Given the description of an element on the screen output the (x, y) to click on. 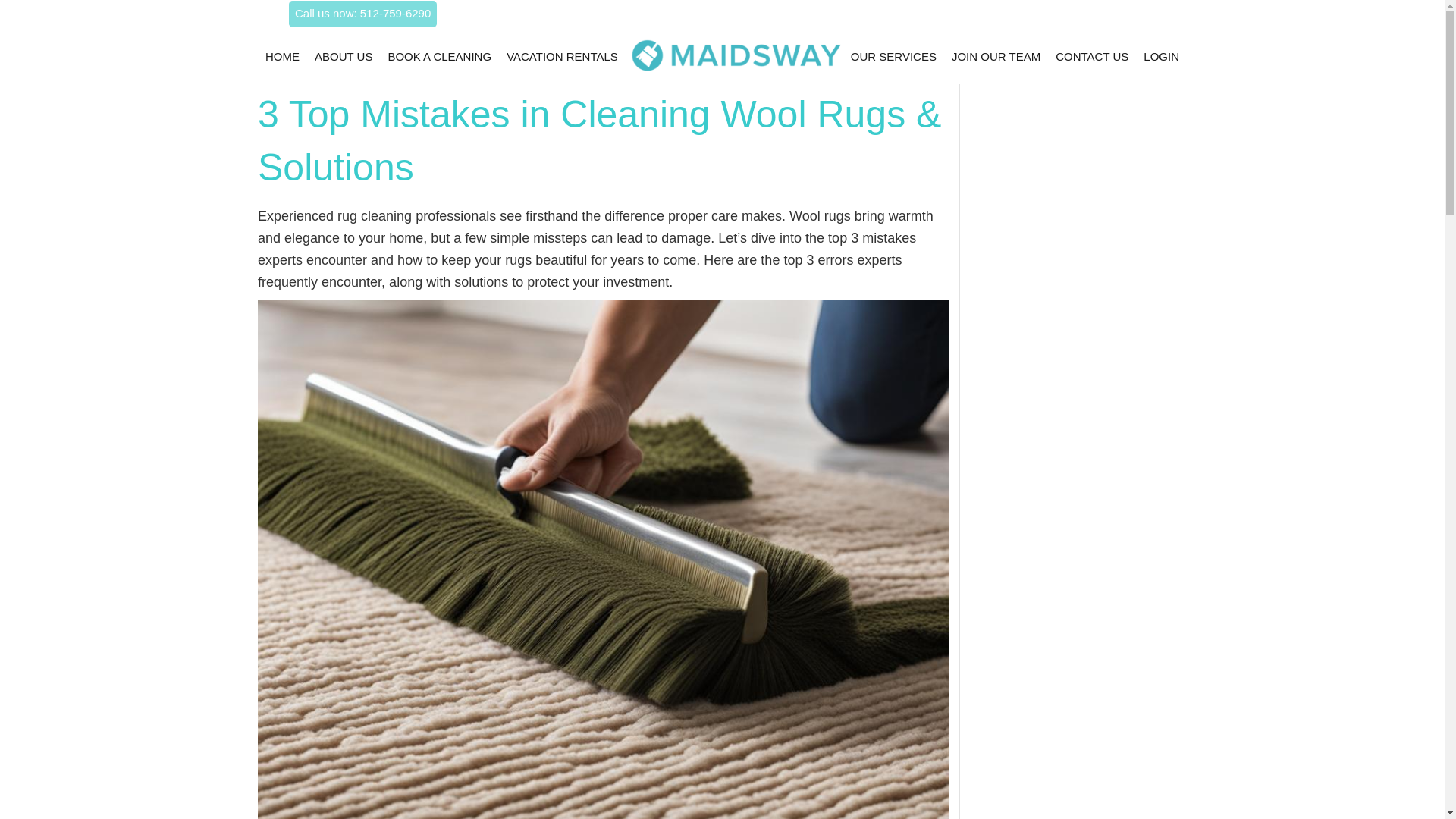
OUR SERVICES (893, 55)
ABOUT US (343, 55)
CONTACT US (1091, 55)
HOME (282, 55)
LOGIN (1161, 55)
JOIN OUR TEAM (995, 55)
Call us now: 512-759-6290 (362, 12)
VACATION RENTALS (561, 55)
Call us now: 512-759-6290 (362, 13)
BOOK A CLEANING (439, 55)
